Given the description of an element on the screen output the (x, y) to click on. 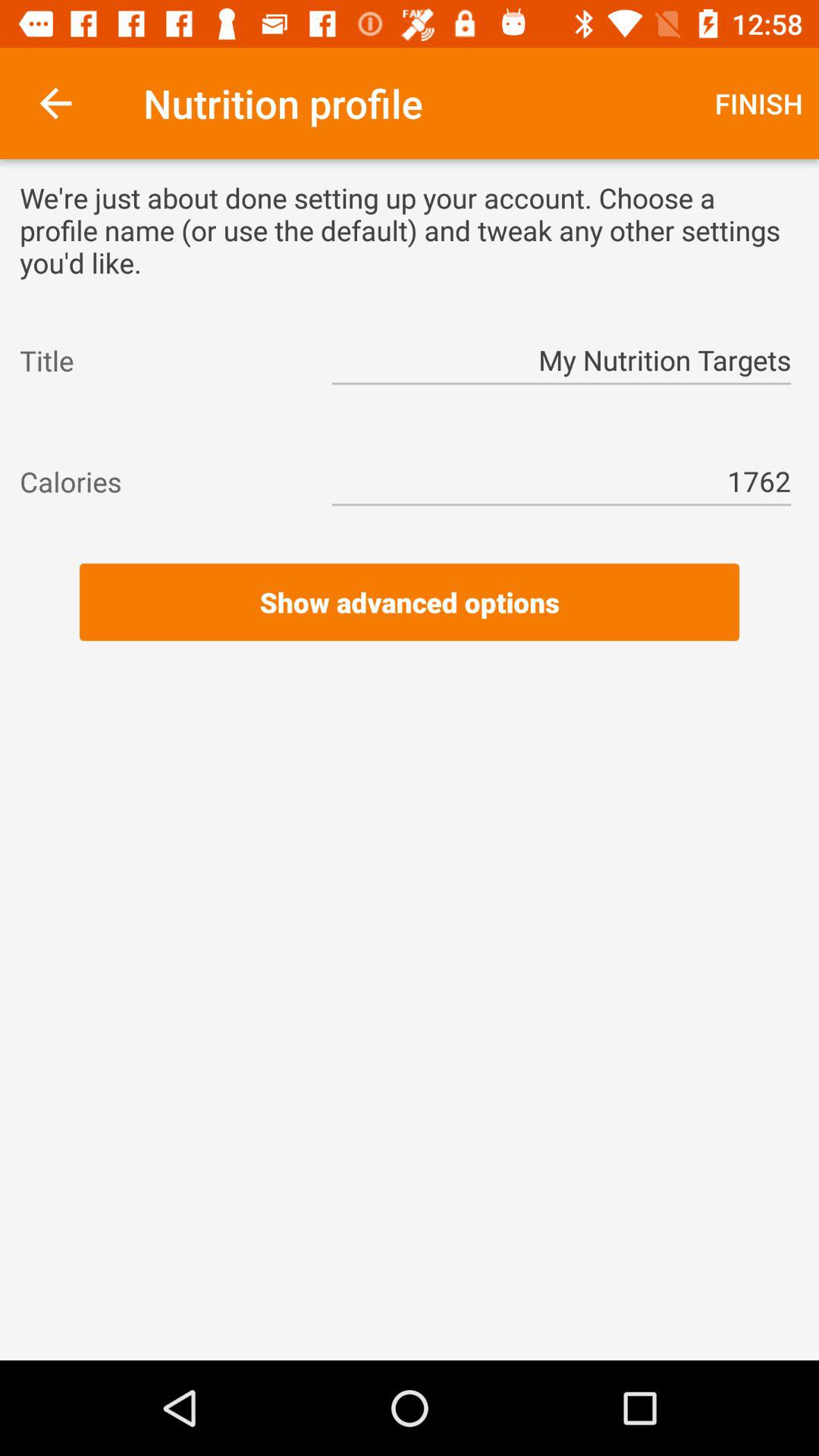
turn off the icon below the we re just icon (561, 360)
